Given the description of an element on the screen output the (x, y) to click on. 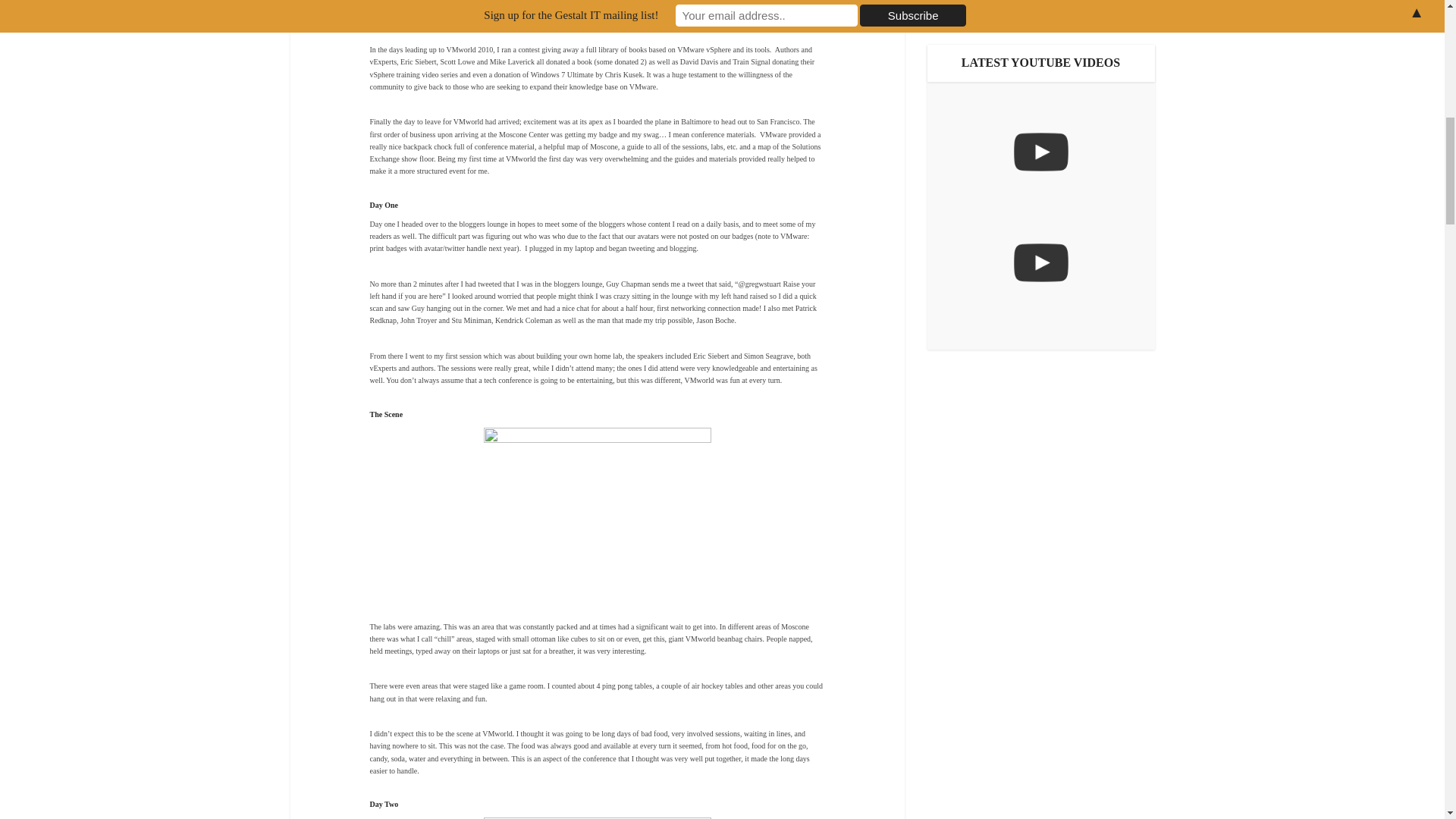
San Francisco 2010 037 (597, 512)
